Given the description of an element on the screen output the (x, y) to click on. 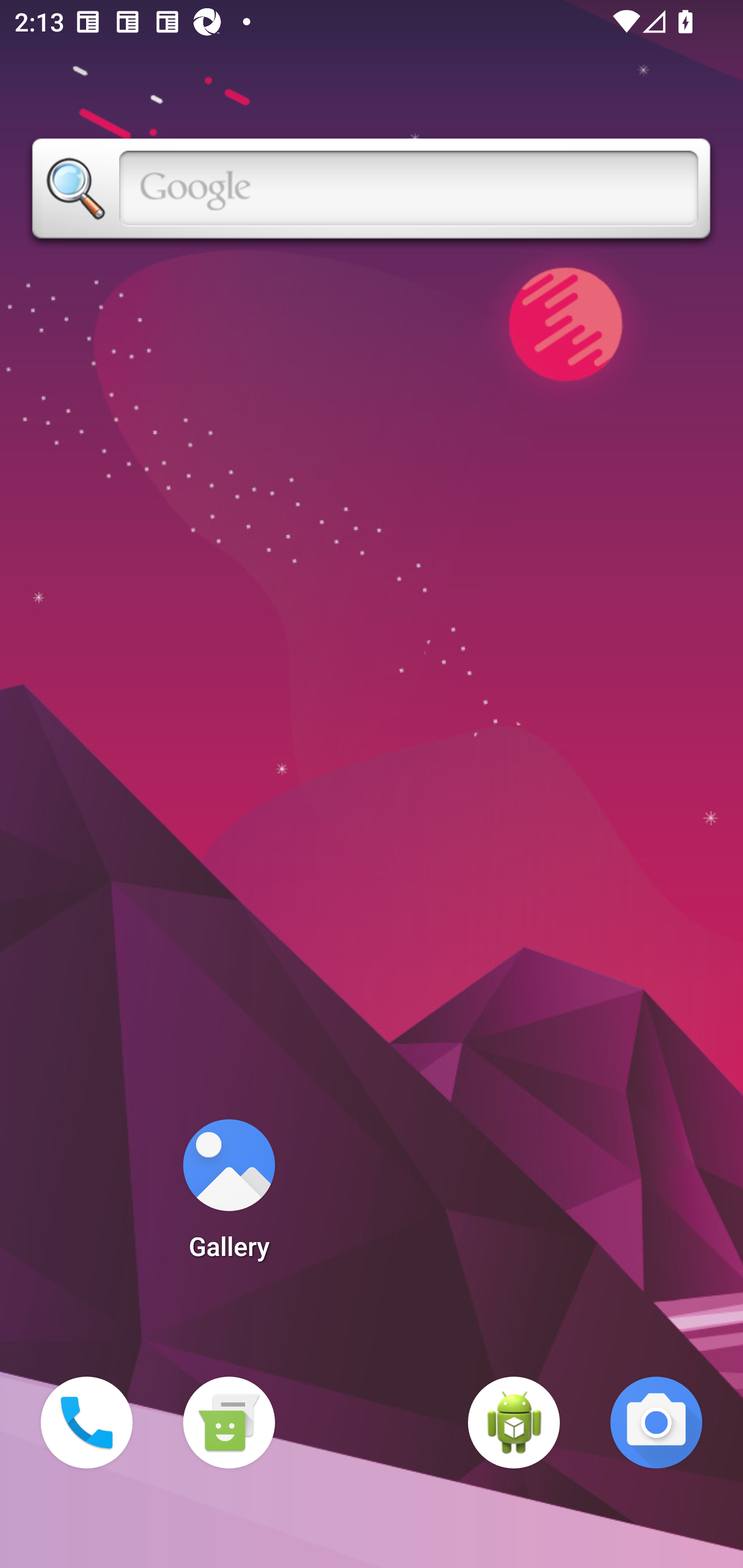
Gallery (228, 1195)
Phone (86, 1422)
Messaging (228, 1422)
WebView Browser Tester (513, 1422)
Camera (656, 1422)
